Given the description of an element on the screen output the (x, y) to click on. 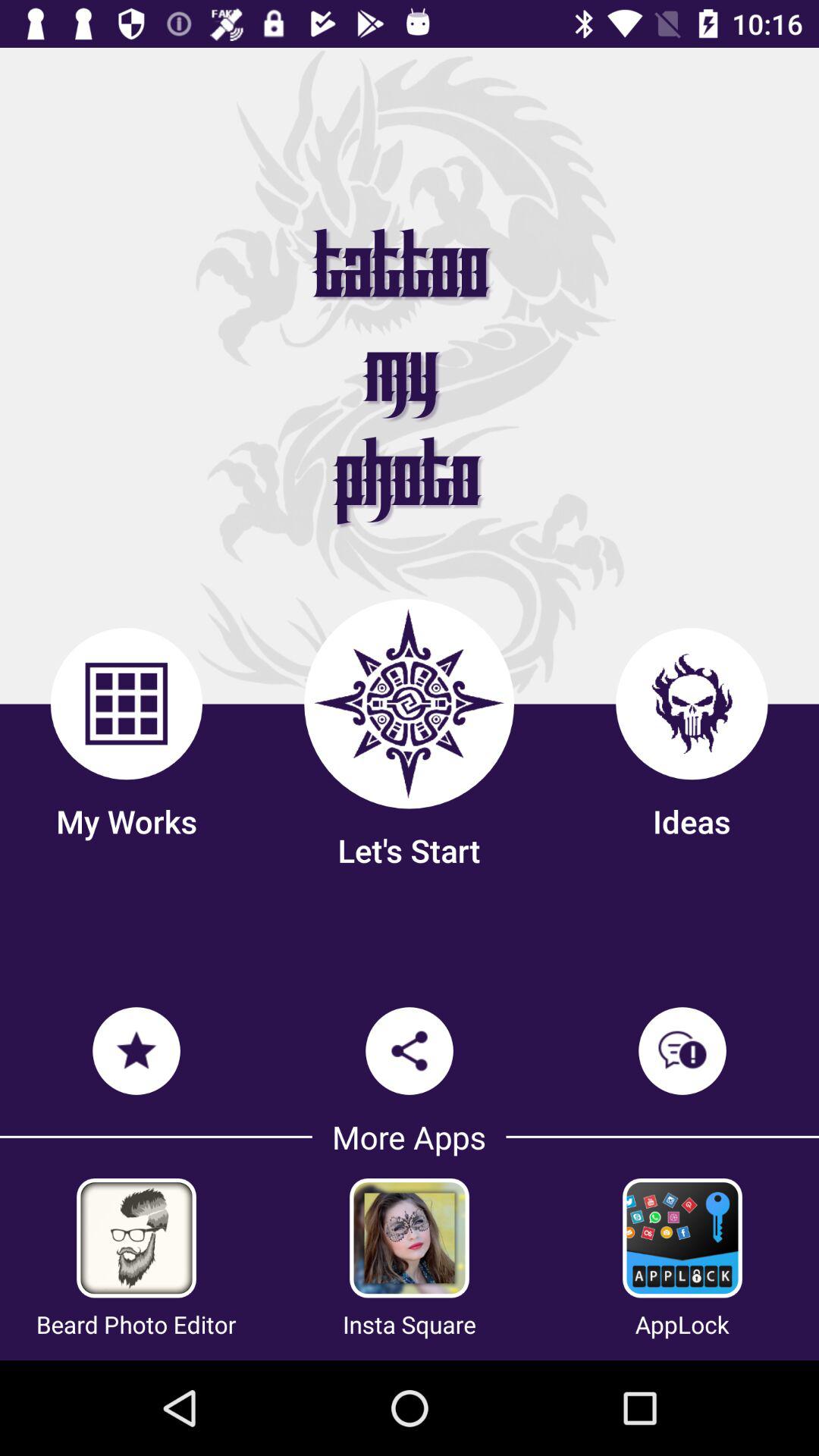
flip to the beard photo editor item (136, 1324)
